Given the description of an element on the screen output the (x, y) to click on. 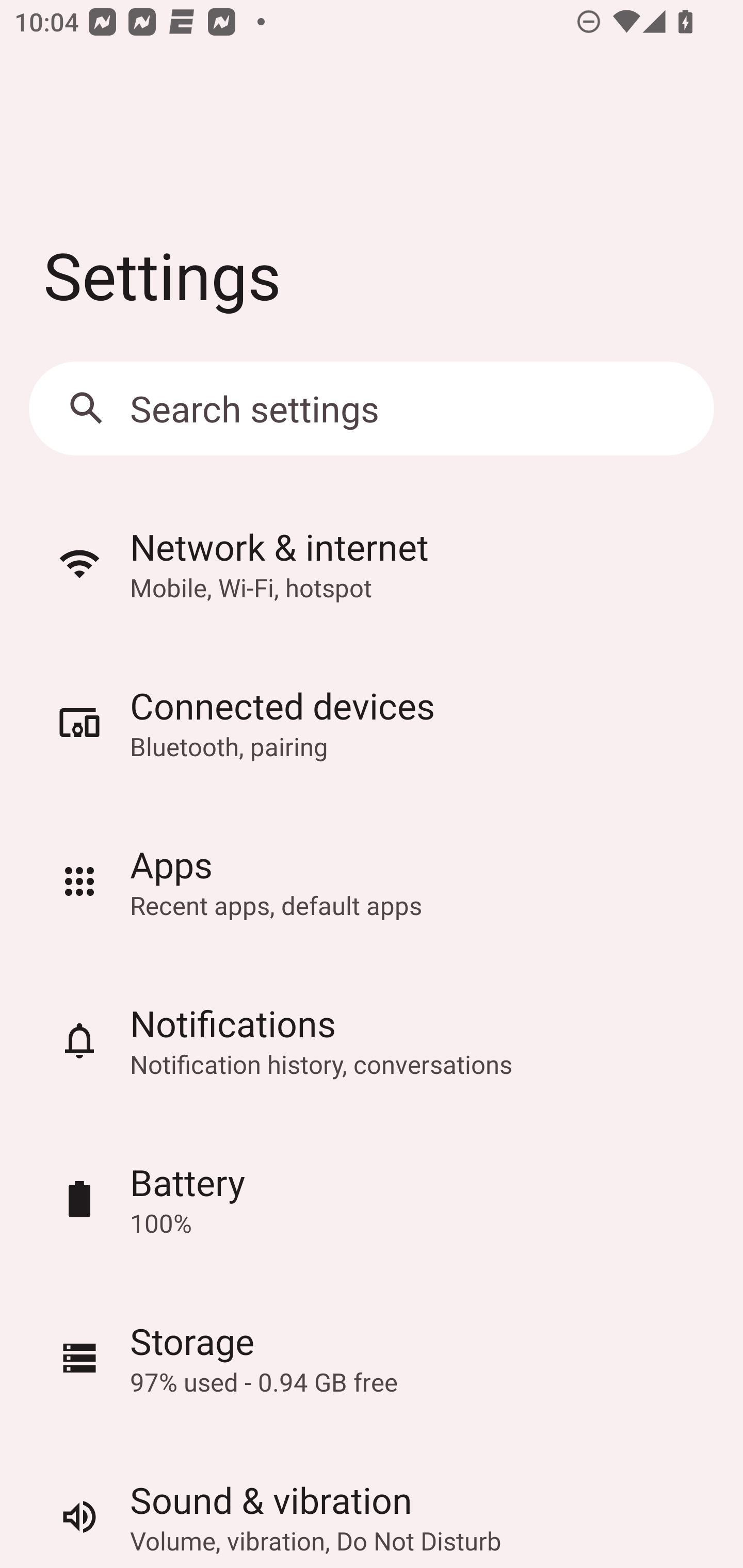
Search settings (371, 408)
Network & internet Mobile, Wi‑Fi, hotspot (371, 563)
Connected devices Bluetooth, pairing (371, 722)
Apps Recent apps, default apps (371, 881)
Notifications Notification history, conversations (371, 1040)
Battery 100% (371, 1198)
Storage 97% used - 0.94 GB free (371, 1357)
